Given the description of an element on the screen output the (x, y) to click on. 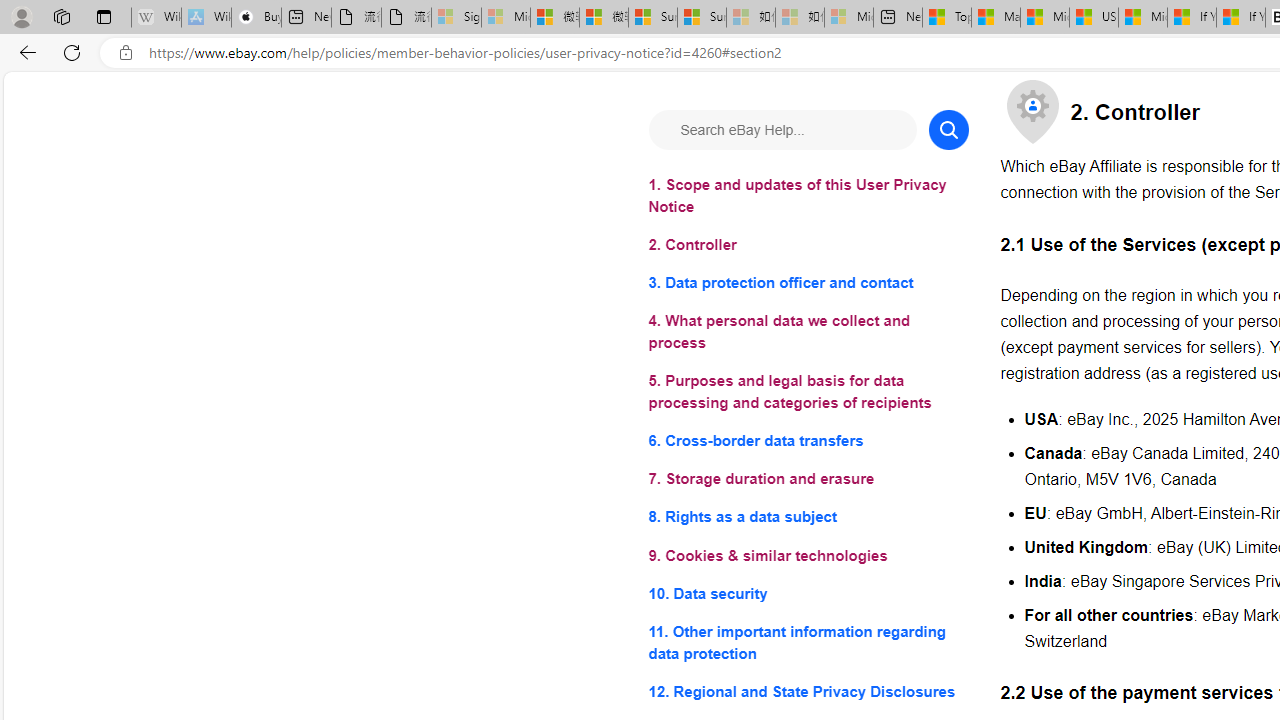
11. Other important information regarding data protection (807, 642)
12. Regional and State Privacy Disclosures (807, 690)
Search eBay Help... (781, 129)
6. Cross-border data transfers (807, 440)
10. Data security (807, 592)
3. Data protection officer and contact (807, 283)
9. Cookies & similar technologies (807, 555)
Sign in to your Microsoft account - Sleeping (456, 17)
